Given the description of an element on the screen output the (x, y) to click on. 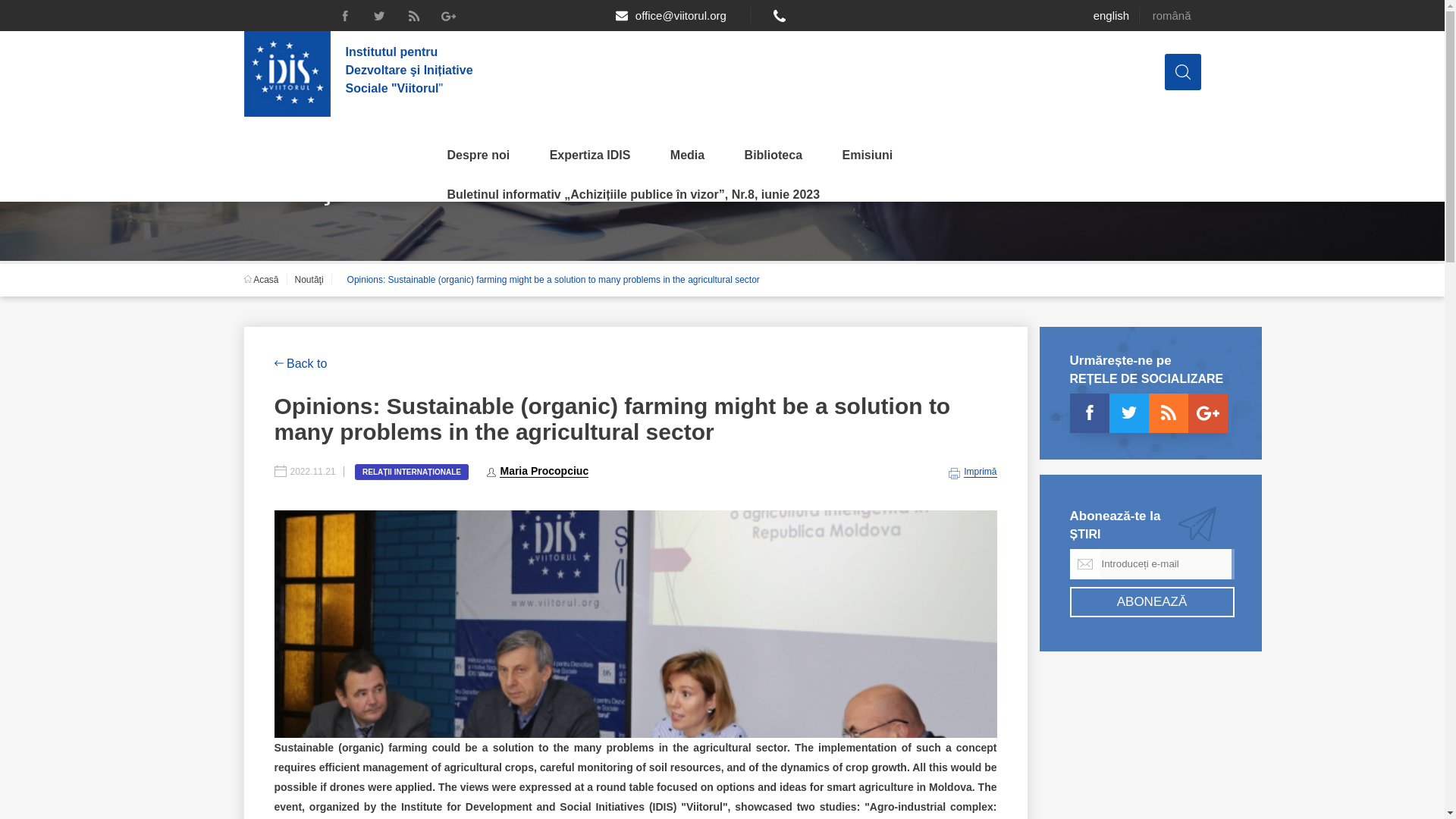
Expertiza IDIS (590, 155)
english (1111, 15)
Despre noi (478, 155)
